Given the description of an element on the screen output the (x, y) to click on. 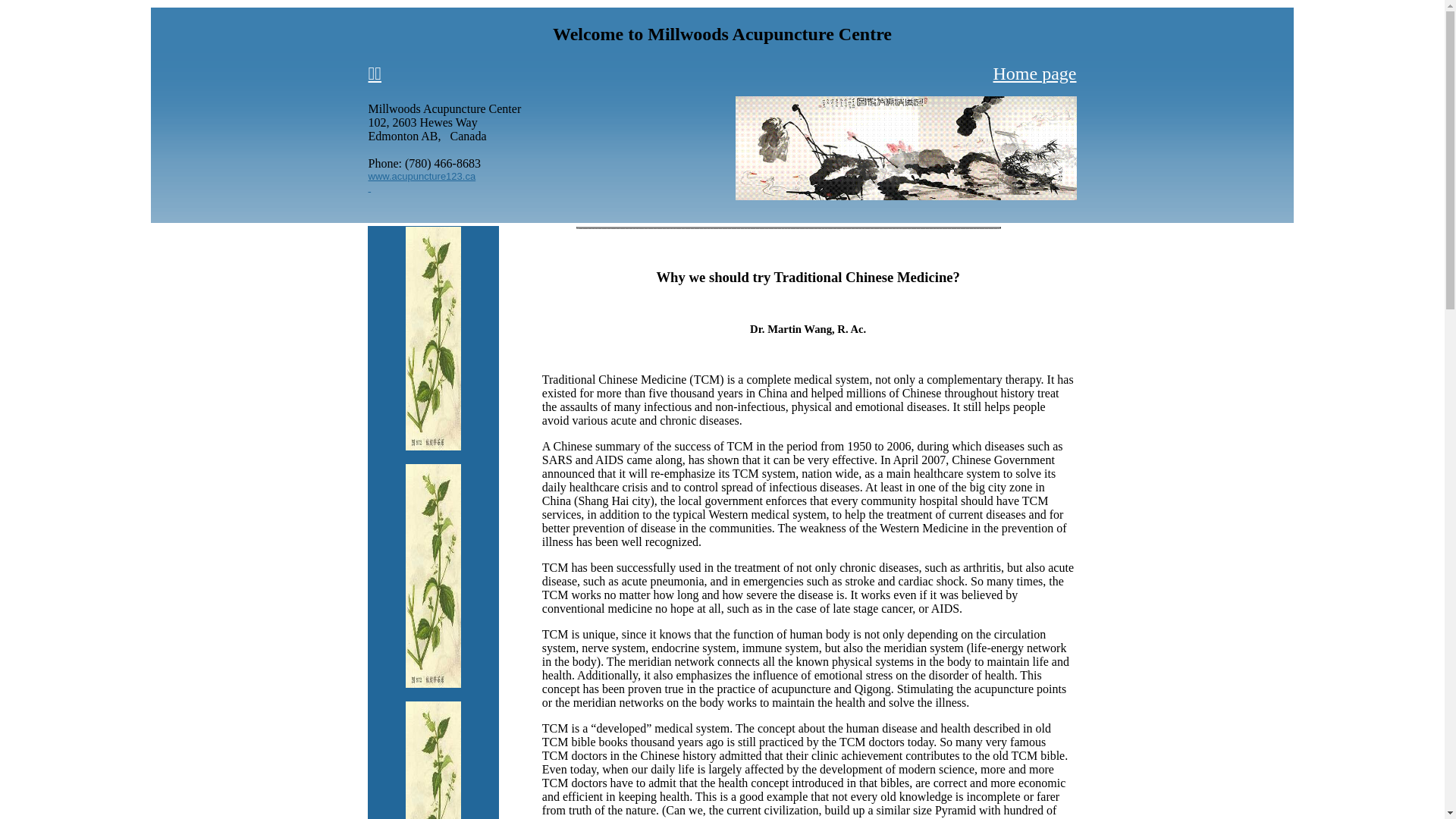
  Element type: text (369, 186)
Home page Element type: text (1034, 73)
www.acupuncture123.ca Element type: text (422, 174)
